Given the description of an element on the screen output the (x, y) to click on. 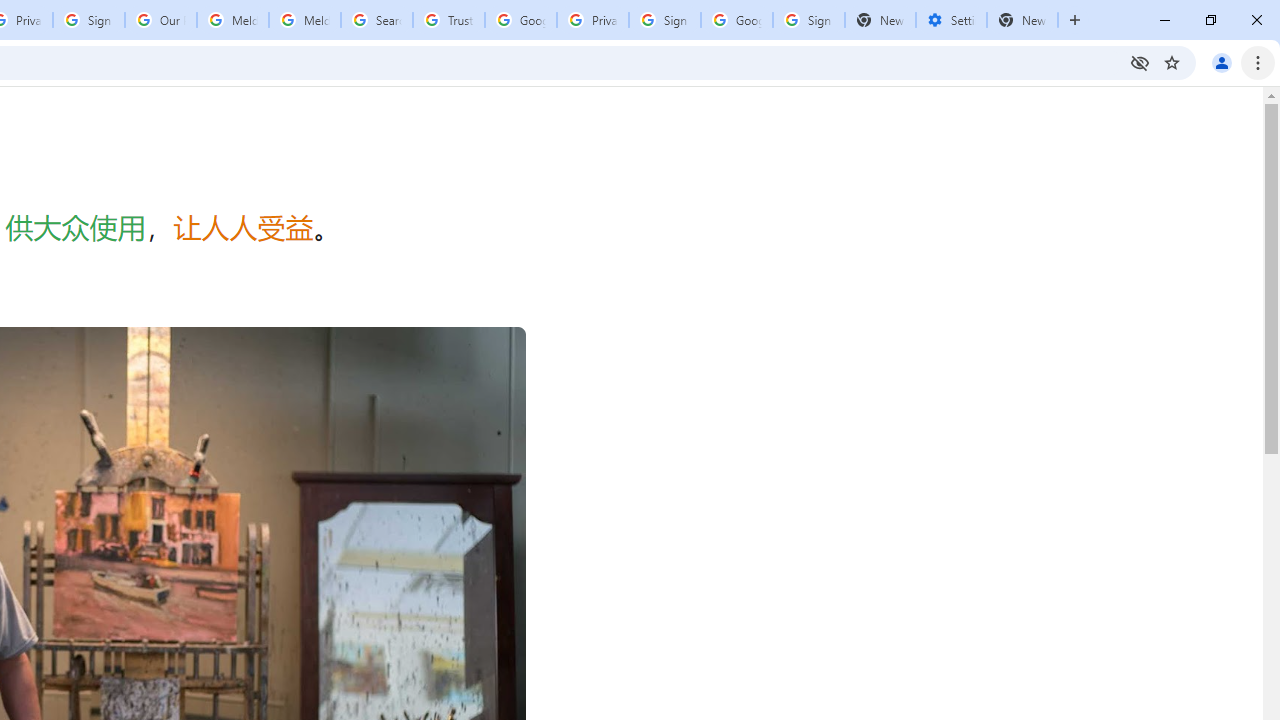
Settings - Addresses and more (951, 20)
Sign in - Google Accounts (808, 20)
Trusted Information and Content - Google Safety Center (449, 20)
